Given the description of an element on the screen output the (x, y) to click on. 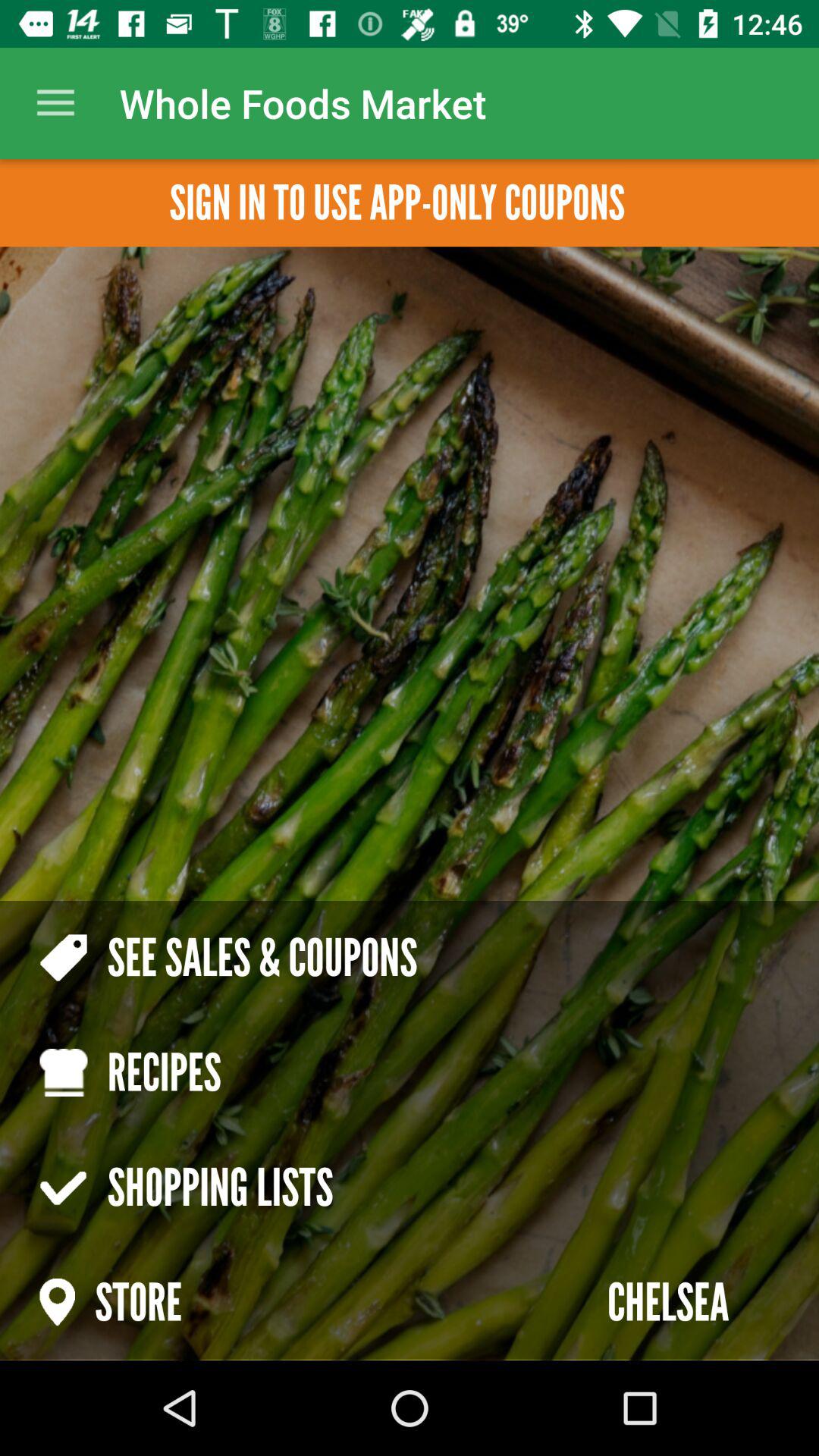
turn on app next to whole foods market item (55, 103)
